Given the description of an element on the screen output the (x, y) to click on. 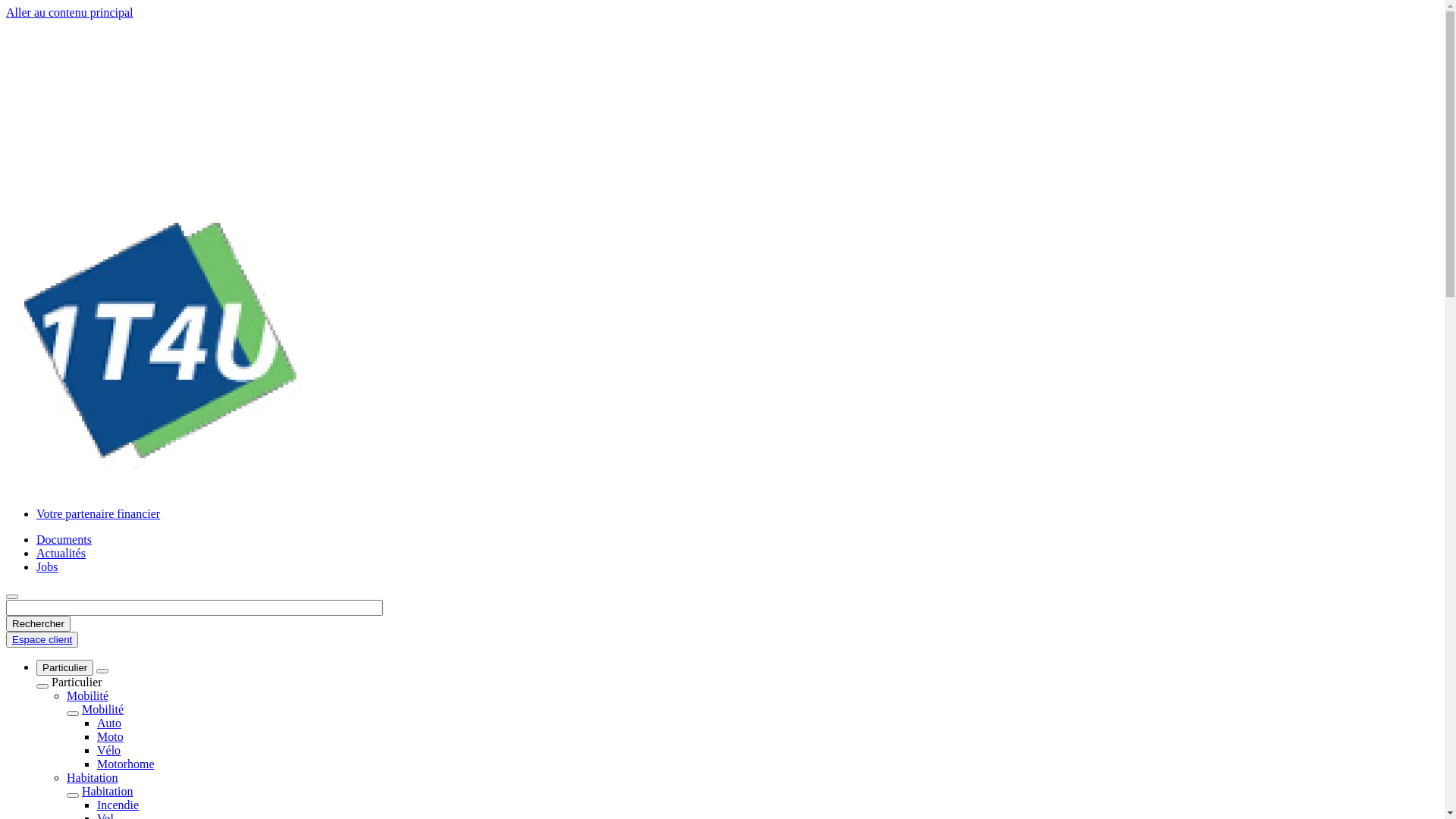
Espace client Element type: text (42, 639)
Moto Element type: text (110, 736)
Habitation Element type: text (107, 790)
Habitation Element type: text (92, 777)
Jobs Element type: text (46, 566)
Votre partenaire financier Element type: text (98, 513)
Particulier Element type: text (64, 667)
Rechercher Element type: text (38, 623)
Espace client Element type: text (42, 639)
Incendie Element type: text (117, 804)
Aller au contenu principal Element type: text (69, 12)
Documents Element type: text (63, 539)
Auto Element type: text (109, 722)
Motorhome Element type: text (125, 763)
